Given the description of an element on the screen output the (x, y) to click on. 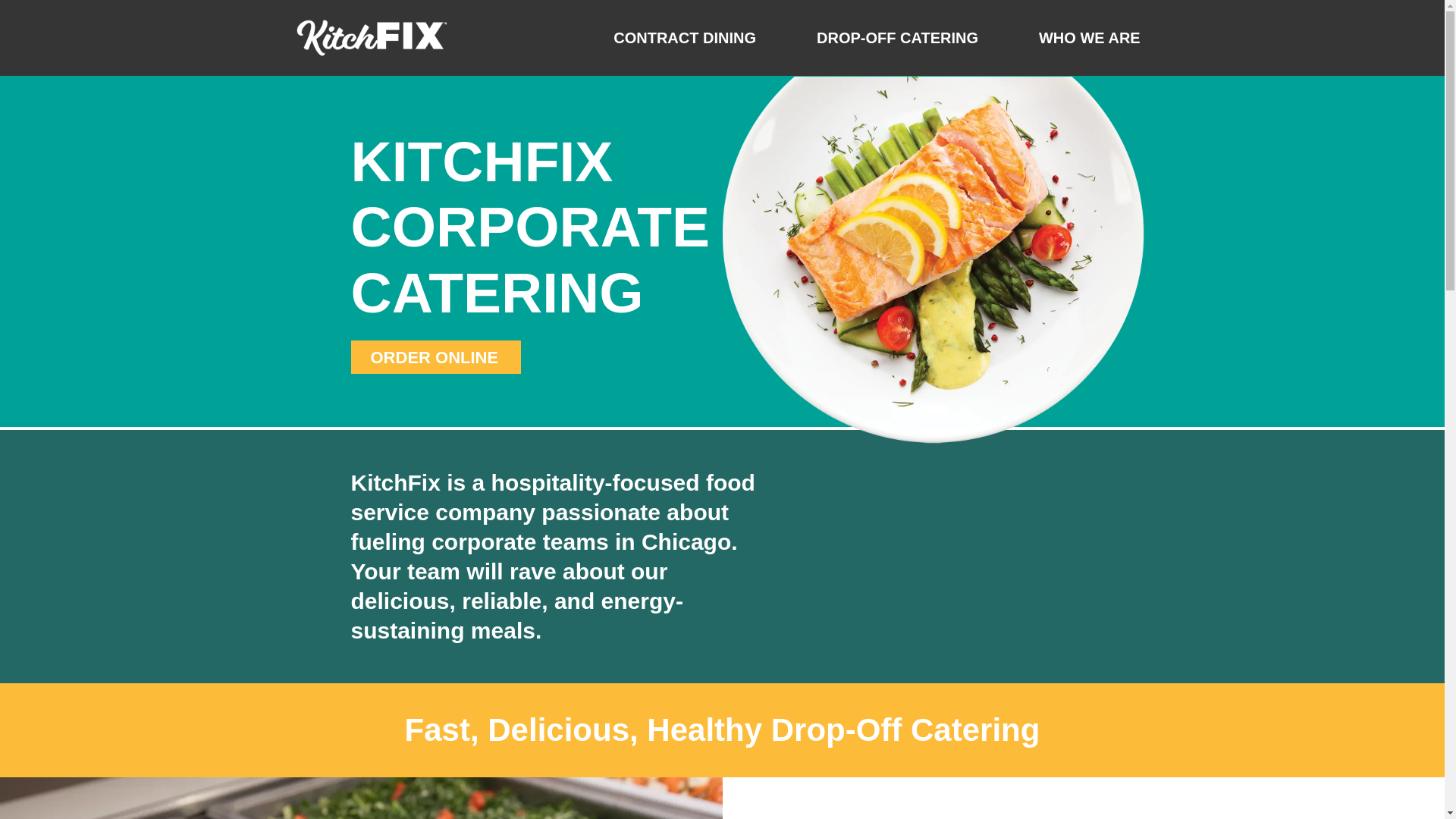
ORDER ONLINE (435, 356)
Skip to content (11, 31)
CONTRACT DINING (684, 37)
DROP-OFF CATERING (897, 37)
WHO WE ARE (1089, 37)
